Given the description of an element on the screen output the (x, y) to click on. 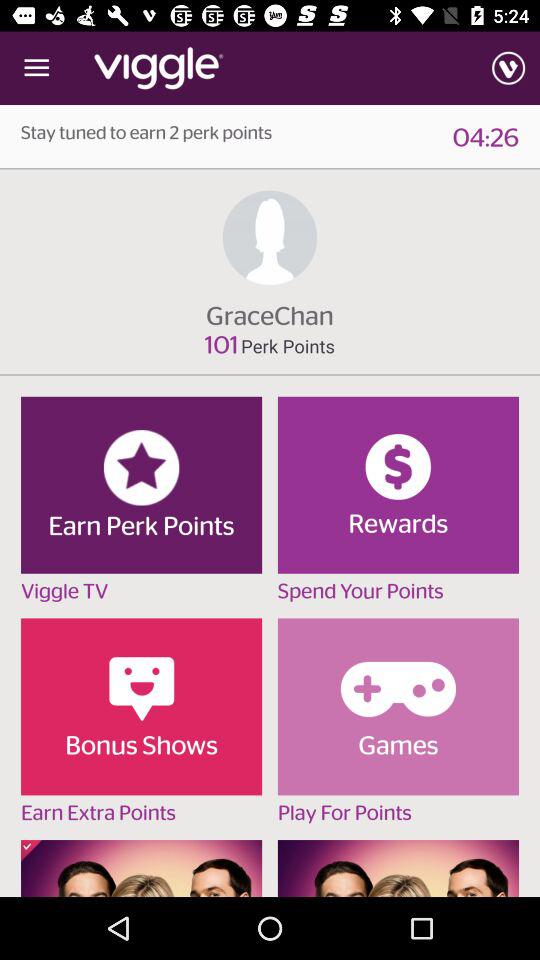
turn on the item above the 04:26 icon (508, 67)
